Given the description of an element on the screen output the (x, y) to click on. 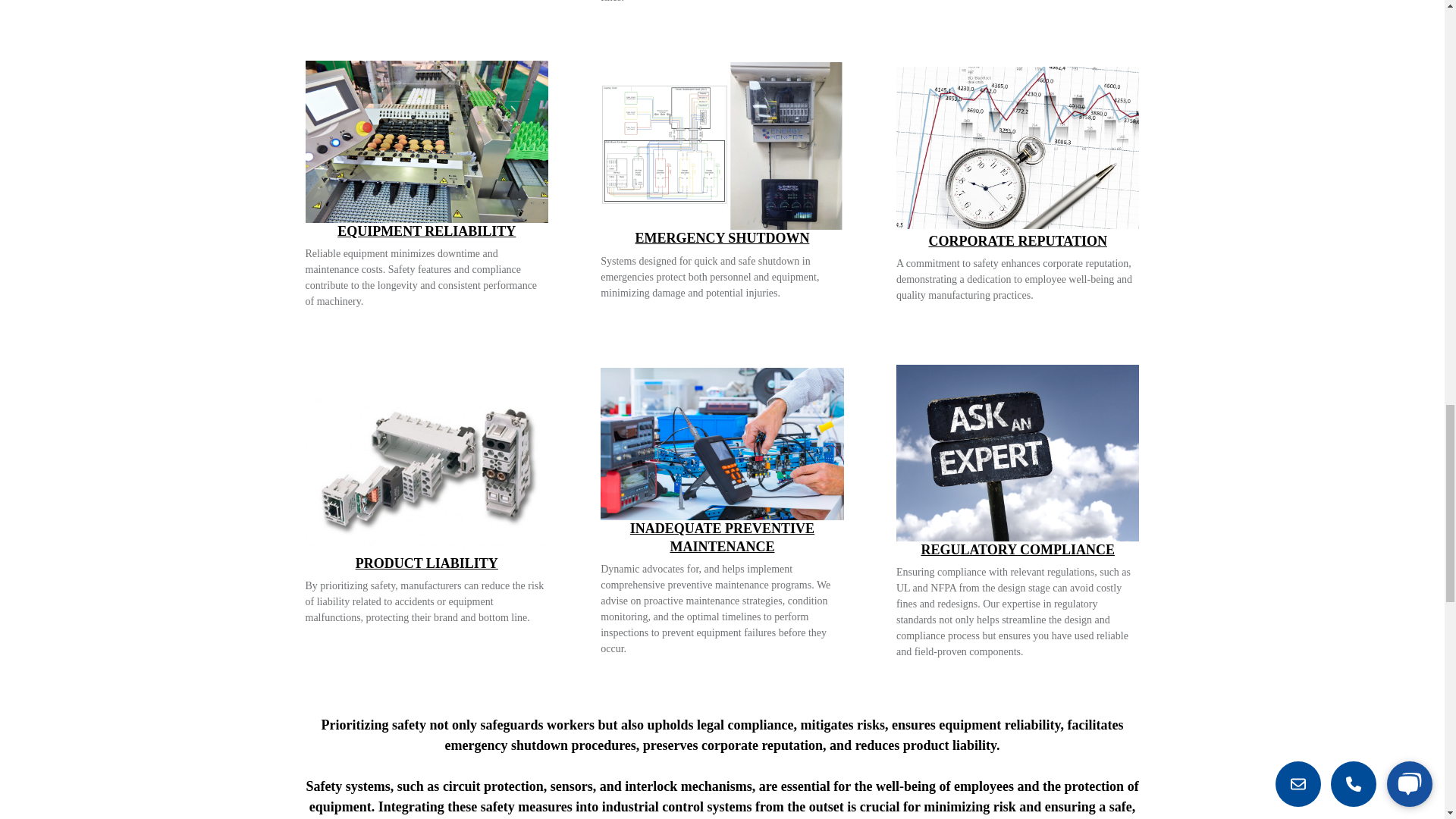
egg inspection and packaging (426, 141)
Equipment testing (721, 443)
Ask An Expert sign with clouds and sky background (1018, 452)
Pocket watch and business concepts on digital background (1018, 147)
